Given the description of an element on the screen output the (x, y) to click on. 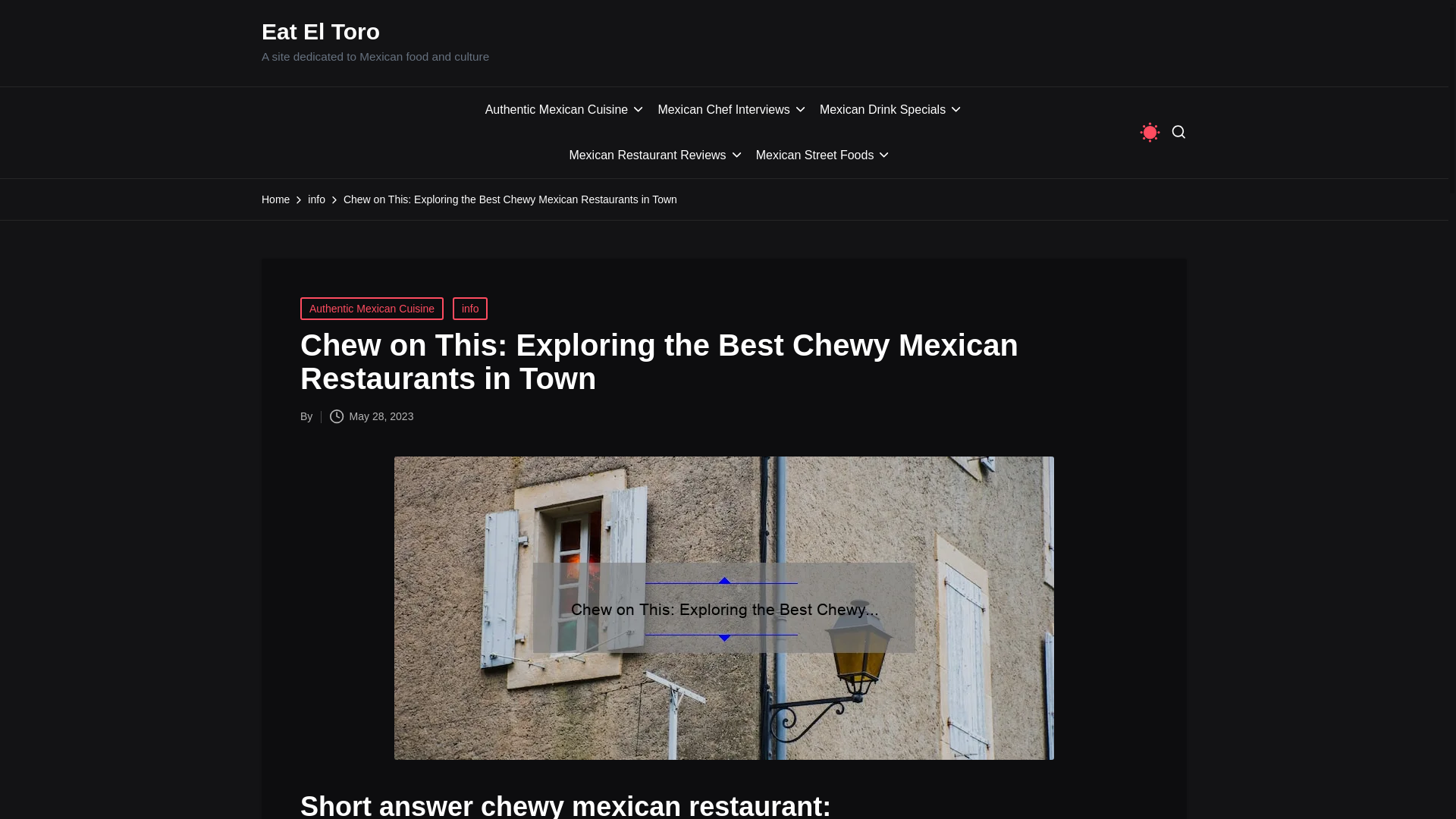
Mexican Chef Interviews (732, 109)
Mexican Street Foods (823, 155)
Authentic Mexican Cuisine (565, 109)
Mexican Restaurant Reviews (655, 155)
Mexican Drink Specials (890, 109)
Eat El Toro (321, 31)
